Given the description of an element on the screen output the (x, y) to click on. 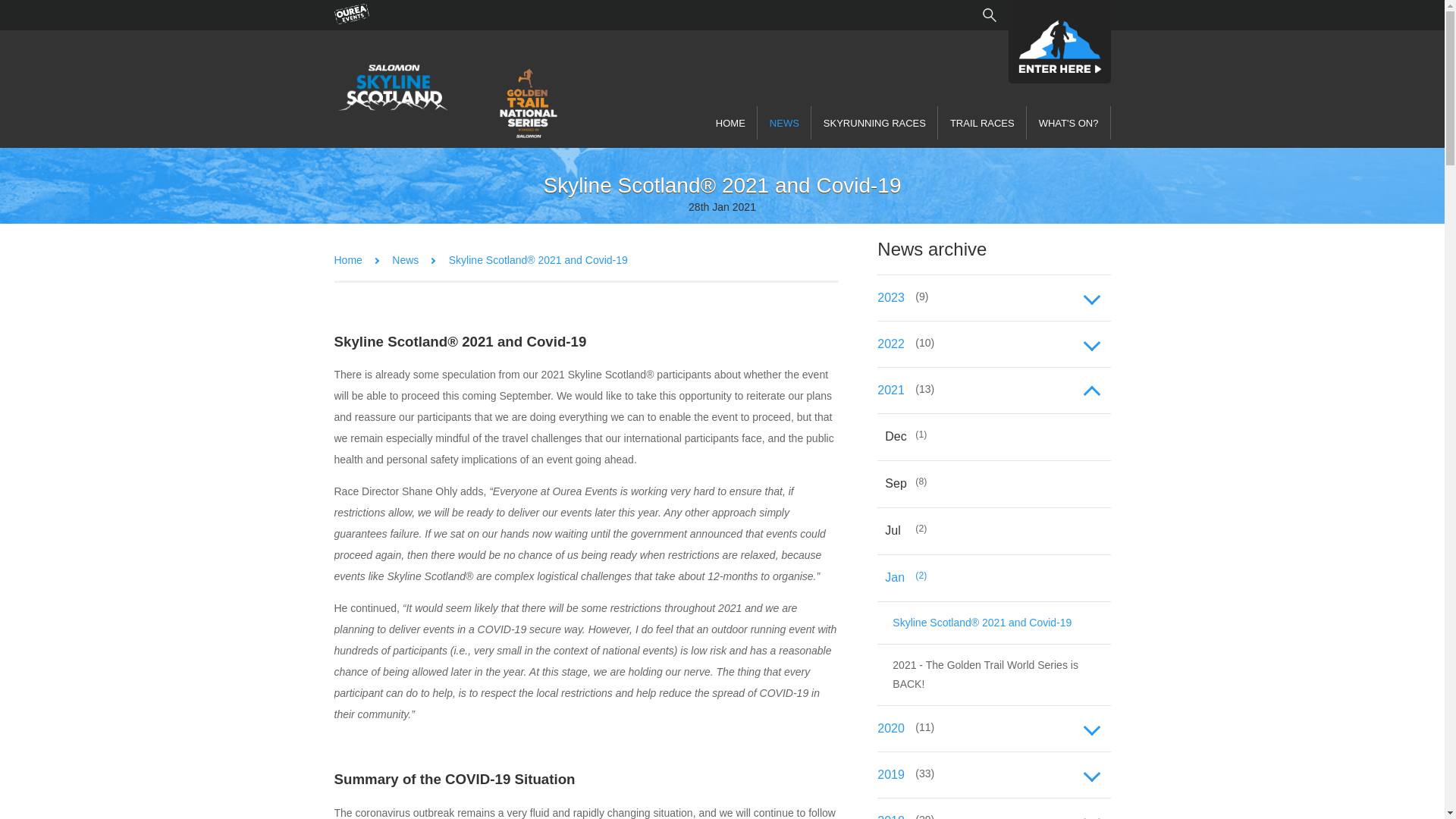
NEWS (783, 123)
2023 (993, 298)
WHAT'S ON? (1068, 123)
News (405, 259)
SKYRUNNING RACES (873, 123)
TRAIL RACES (981, 123)
HOME (730, 123)
Home (347, 259)
